Given the description of an element on the screen output the (x, y) to click on. 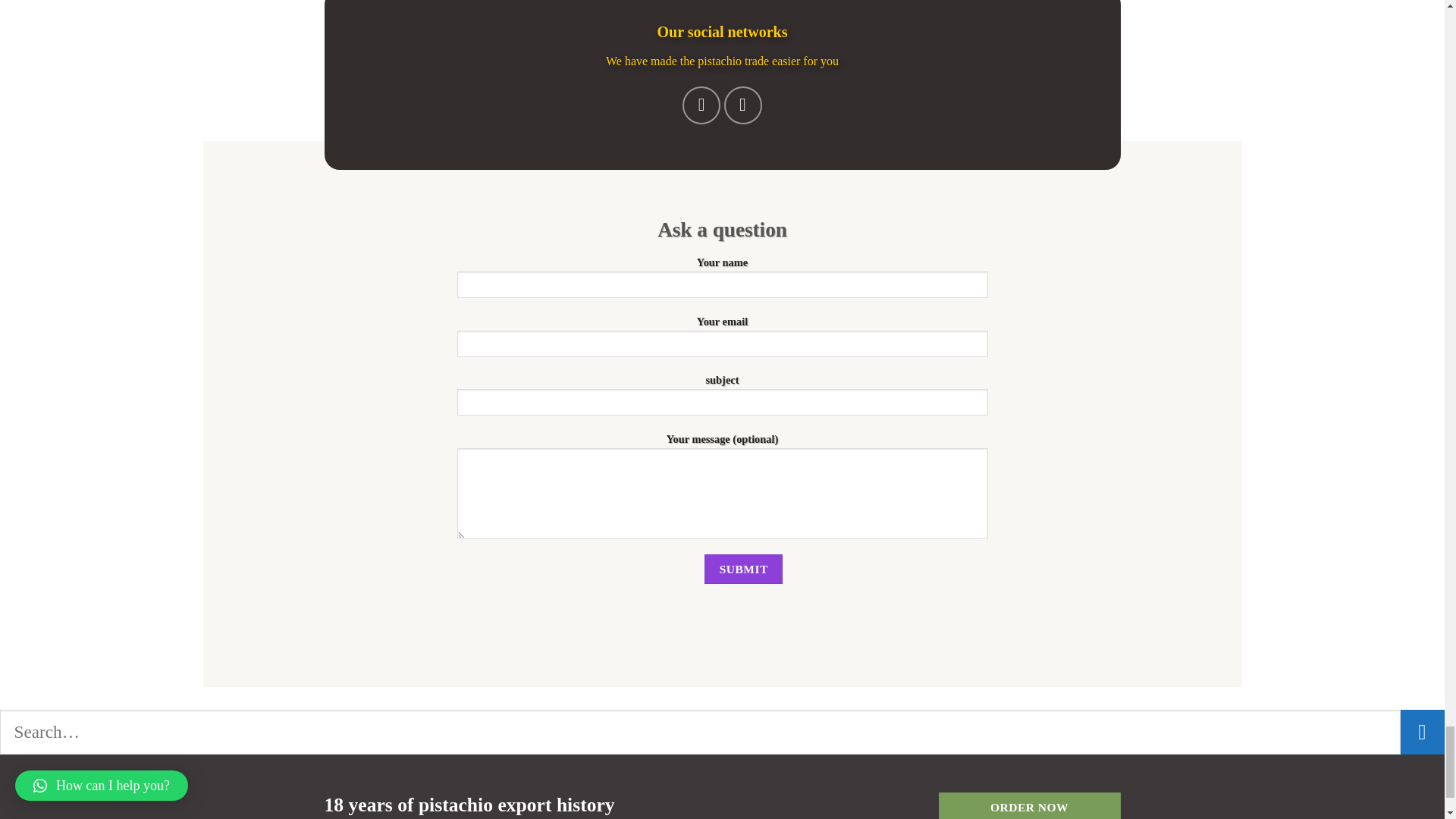
ORDER NOW (1030, 805)
Follow on Facebook (701, 105)
Follow on LinkedIn (742, 105)
Submit (743, 568)
Submit (743, 568)
